Given the description of an element on the screen output the (x, y) to click on. 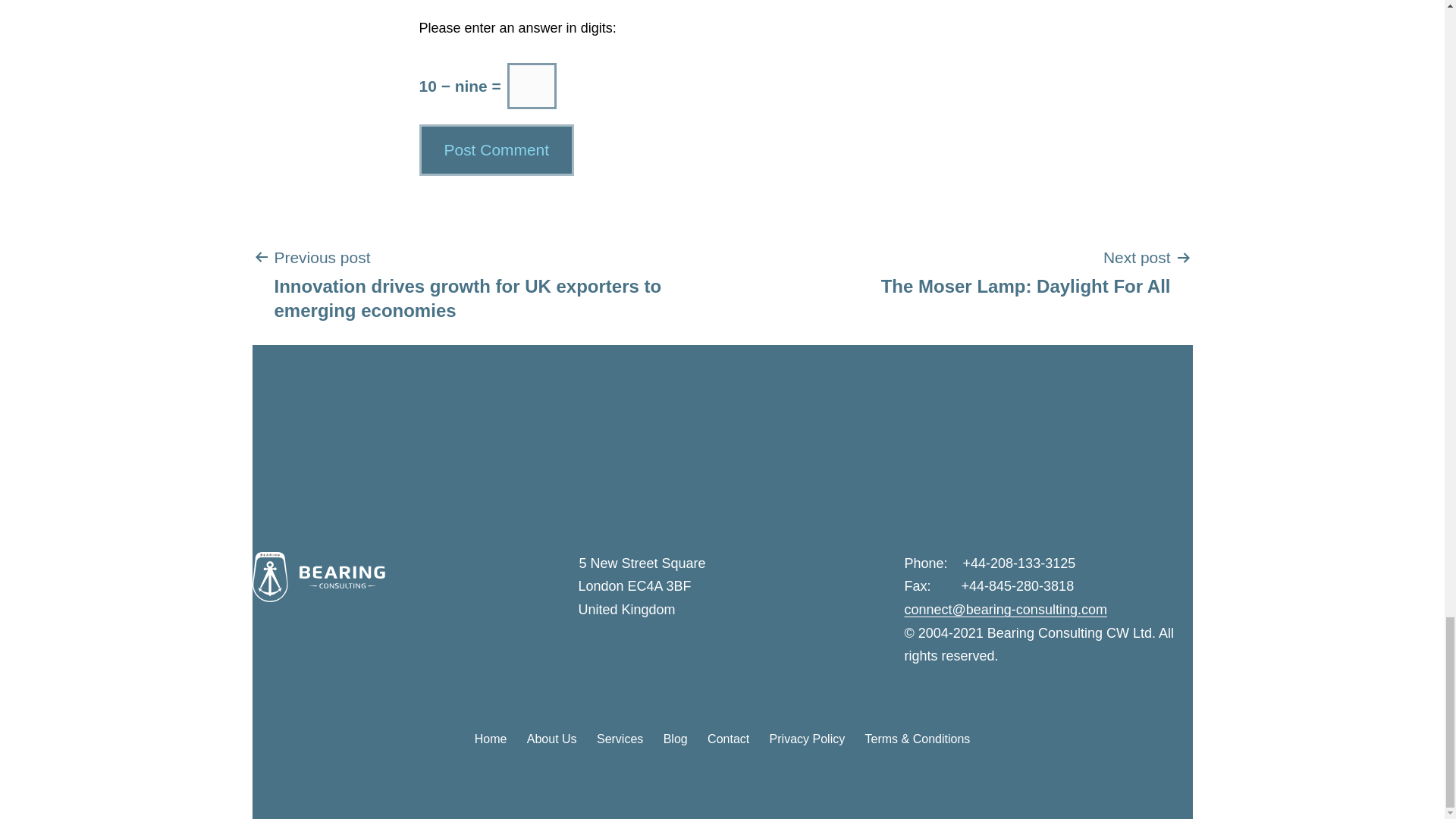
Blog (675, 738)
Services (619, 738)
About Us (551, 738)
Privacy Policy (1025, 271)
Home (806, 738)
Post Comment (490, 738)
Post Comment (496, 149)
Contact (496, 149)
